Given the description of an element on the screen output the (x, y) to click on. 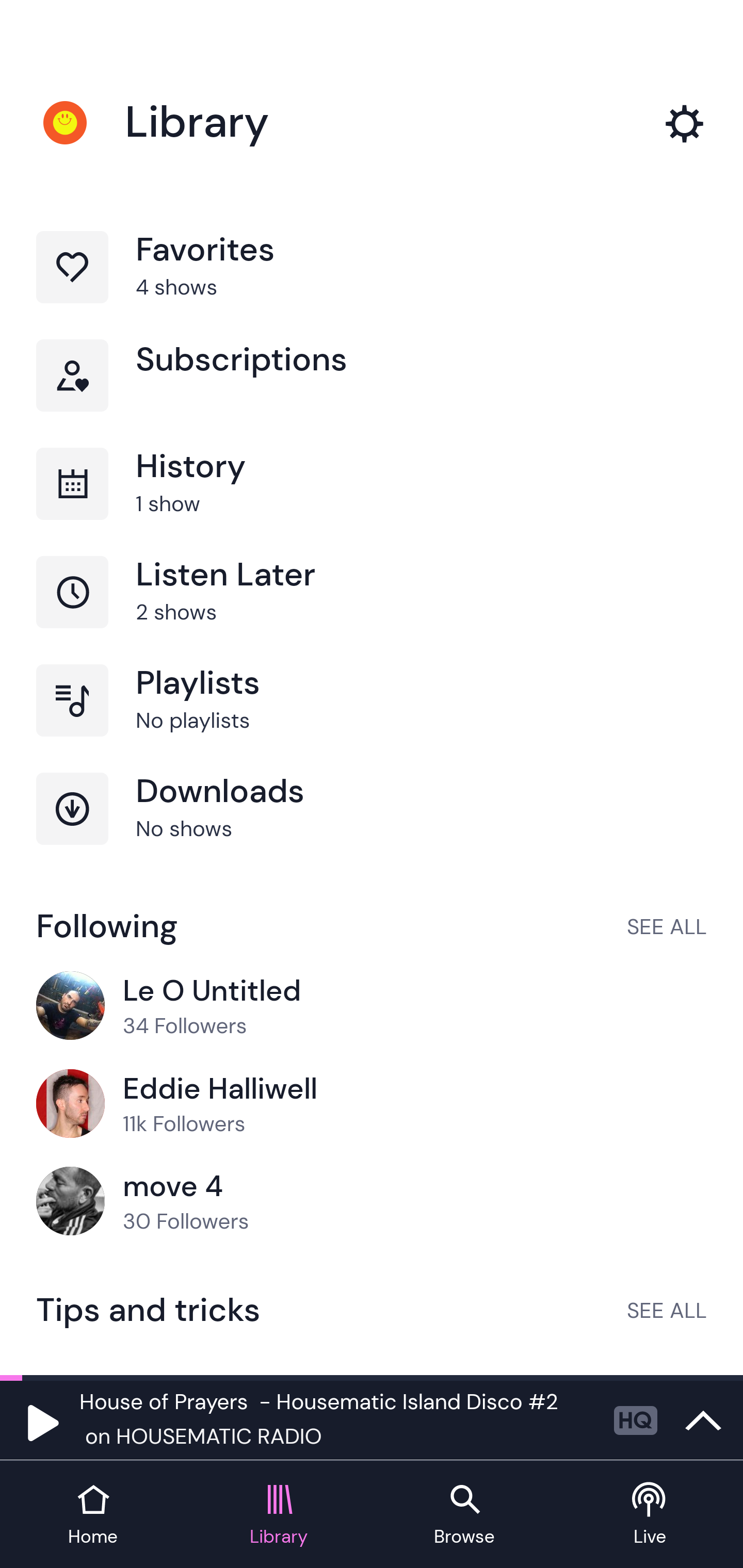
Favorites, 4 shows Favorites 4 shows (371, 284)
Subscriptions (371, 393)
History, 1 show History 1 show (371, 502)
Listen Later, 2 shows Listen Later 2 shows (371, 610)
Playlists, No playlists Playlists No playlists (371, 718)
Downloads, No shows Downloads No shows (371, 827)
SEE ALL (666, 926)
move 4, 30 Followers move 4 30 Followers (371, 1201)
SEE ALL (666, 1309)
Home tab Home (92, 1515)
Library tab Library (278, 1515)
Browse tab Browse (464, 1515)
Live tab Live (650, 1515)
